Given the description of an element on the screen output the (x, y) to click on. 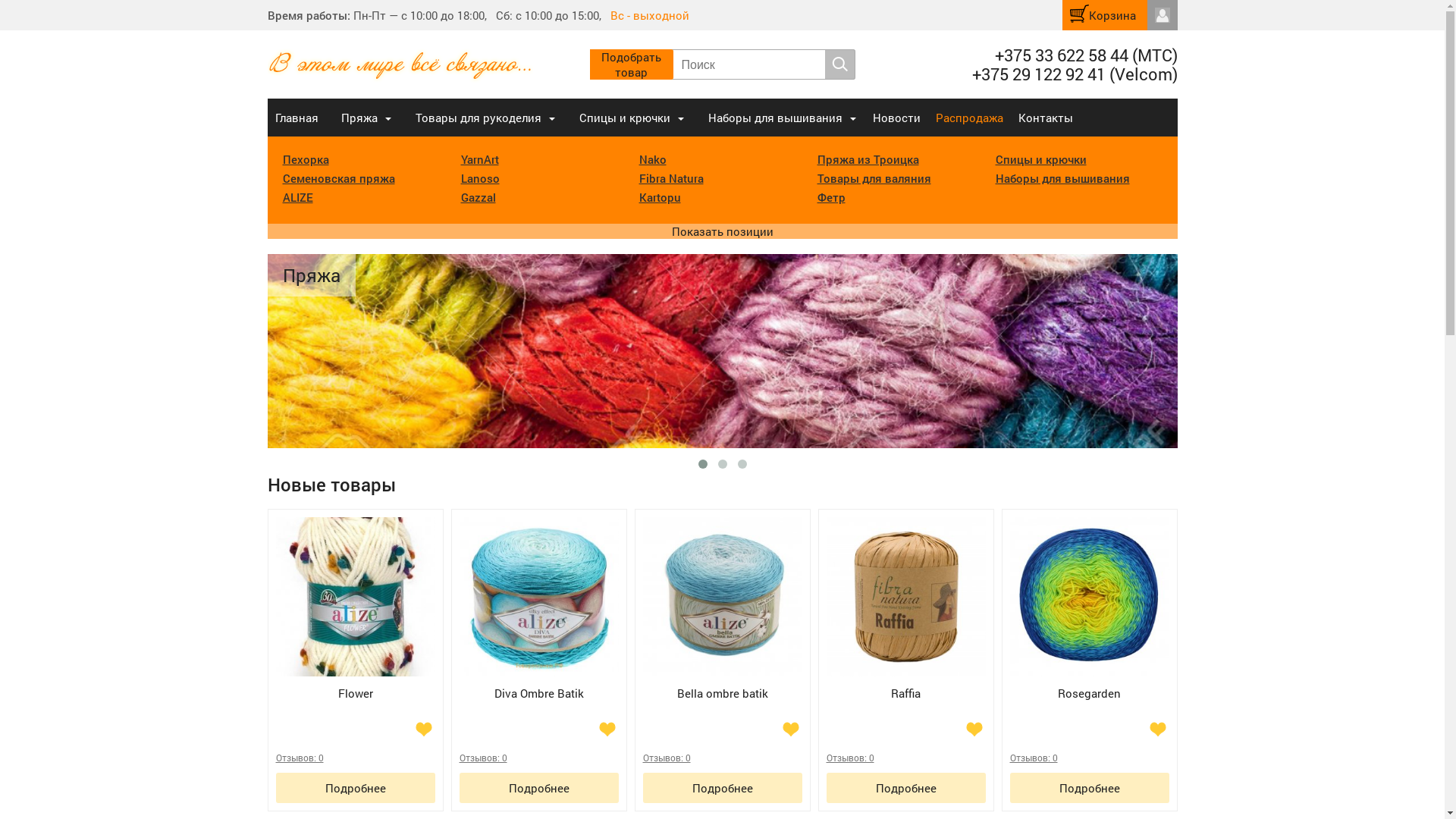
Bella ombre batik Element type: text (722, 613)
4 Element type: text (968, 756)
4 Element type: text (1151, 756)
Gazzal Element type: text (478, 196)
1 Element type: text (1117, 756)
YarnArt Element type: text (479, 158)
Rosegarden Element type: text (1089, 613)
1 Element type: text (383, 756)
2 Element type: text (578, 756)
1 Element type: text (933, 756)
4 Element type: text (601, 756)
Fibra Natura Element type: text (670, 177)
Raffia Element type: text (905, 613)
4 Element type: text (417, 756)
3 Element type: text (405, 756)
5 Element type: text (1162, 756)
3 Element type: text (772, 756)
ALIZE Element type: text (297, 196)
3 Element type: text (956, 756)
Lanoso Element type: text (480, 177)
5 Element type: text (979, 756)
Flower Element type: text (355, 613)
3 Element type: text (1139, 756)
5 Element type: text (795, 756)
1 Element type: text (750, 756)
5 Element type: text (612, 756)
2 Element type: text (762, 756)
Diva Ombre Batik Element type: text (538, 613)
2 Element type: text (395, 756)
2 Element type: text (1129, 756)
1 Element type: text (566, 756)
5 Element type: text (428, 756)
Nako Element type: text (651, 158)
2 Element type: text (945, 756)
4 Element type: text (784, 756)
3 Element type: text (589, 756)
Kartopu Element type: text (659, 196)
